Given the description of an element on the screen output the (x, y) to click on. 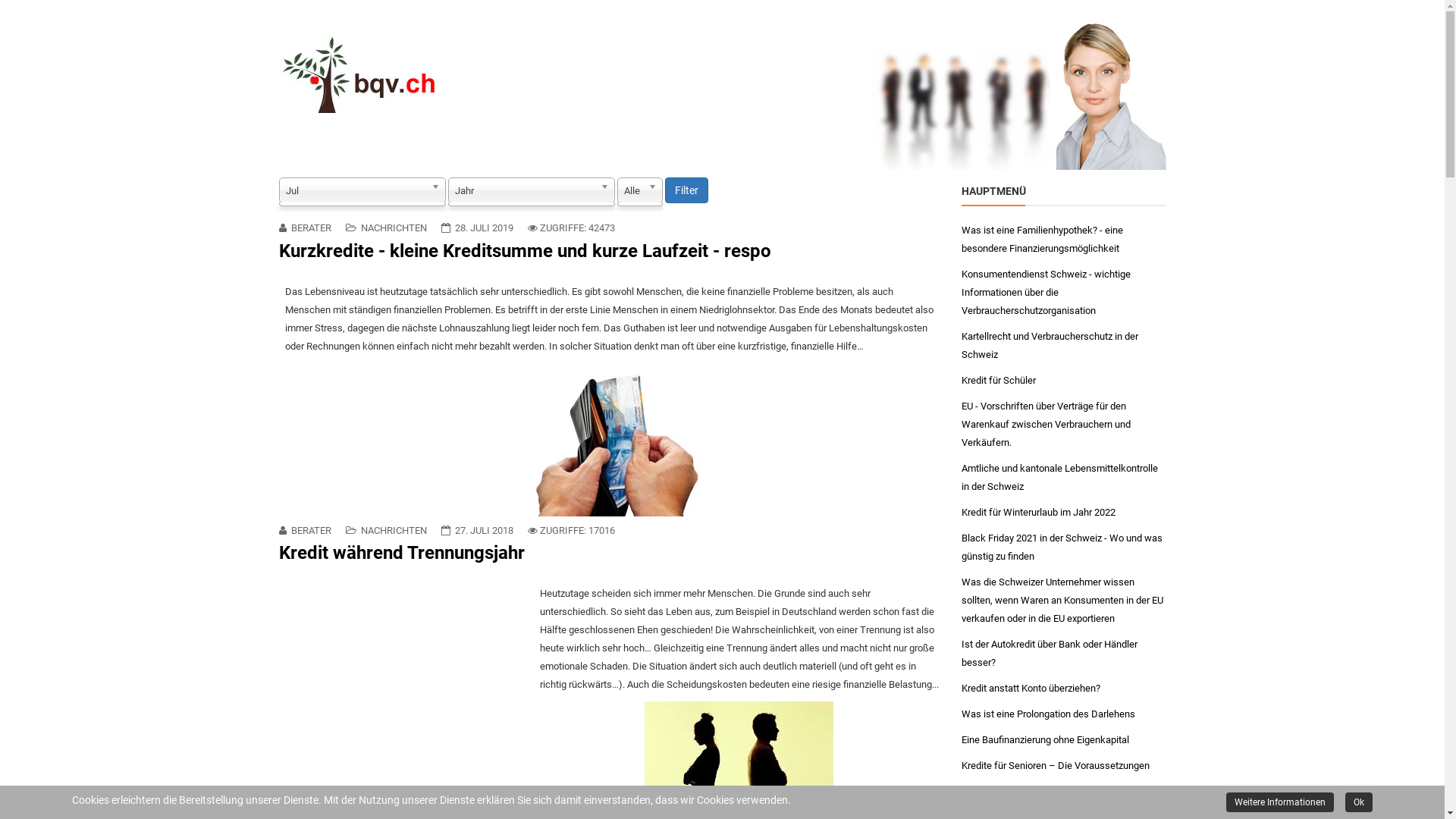
Ein Schufafreier Kredit Element type: text (1009, 791)
Weitere Informationen Element type: text (1279, 802)
Filter Element type: text (685, 190)
Advertisement Element type: hover (406, 690)
Was ist eine Prolongation des Darlehens Element type: text (1048, 714)
Amtliche und kantonale Lebensmittelkontrolle in der Schweiz Element type: text (1063, 477)
Kurzkredite - kleine Kreditsumme und kurze Laufzeit - respo Element type: text (525, 250)
Jahr Element type: text (530, 190)
Eine Baufinanzierung ohne Eigenkapital Element type: text (1045, 740)
Jul Element type: text (362, 190)
Ok Element type: text (1358, 802)
Alle Element type: text (639, 190)
Kartellrecht und Verbraucherschutz in der Schweiz Element type: text (1063, 345)
